Given the description of an element on the screen output the (x, y) to click on. 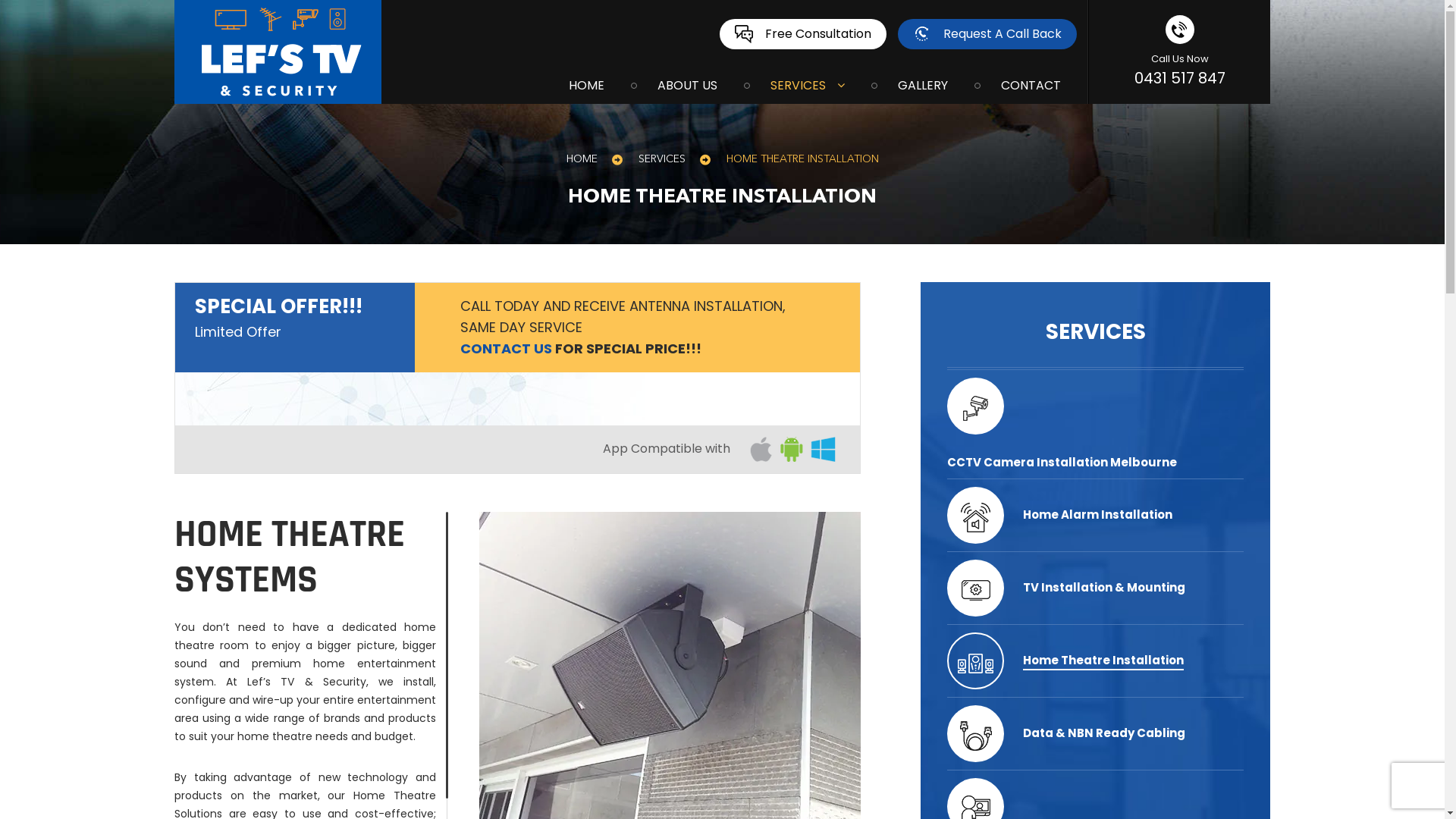
TV Installation & Mounting Element type: text (1103, 587)
CCTV Camera Installation Melbourne Element type: text (1061, 462)
CONTACT US Element type: text (506, 347)
Free Consultation Element type: text (802, 33)
CONTACT Element type: text (1030, 82)
Submit Element type: text (884, 259)
GALLERY Element type: text (922, 82)
ABOUT US Element type: text (686, 82)
Data & NBN Ready Cabling Element type: text (1103, 732)
Home Alarm Installation Element type: text (1097, 514)
Call Us Now
0431 517 847 Element type: text (1179, 51)
SERVICES Element type: text (661, 158)
SERVICES Element type: text (807, 82)
HOME Element type: text (580, 158)
Home Theatre Installation Element type: text (1102, 660)
HOME Element type: text (586, 82)
Request A Call Back Element type: text (986, 33)
